Given the description of an element on the screen output the (x, y) to click on. 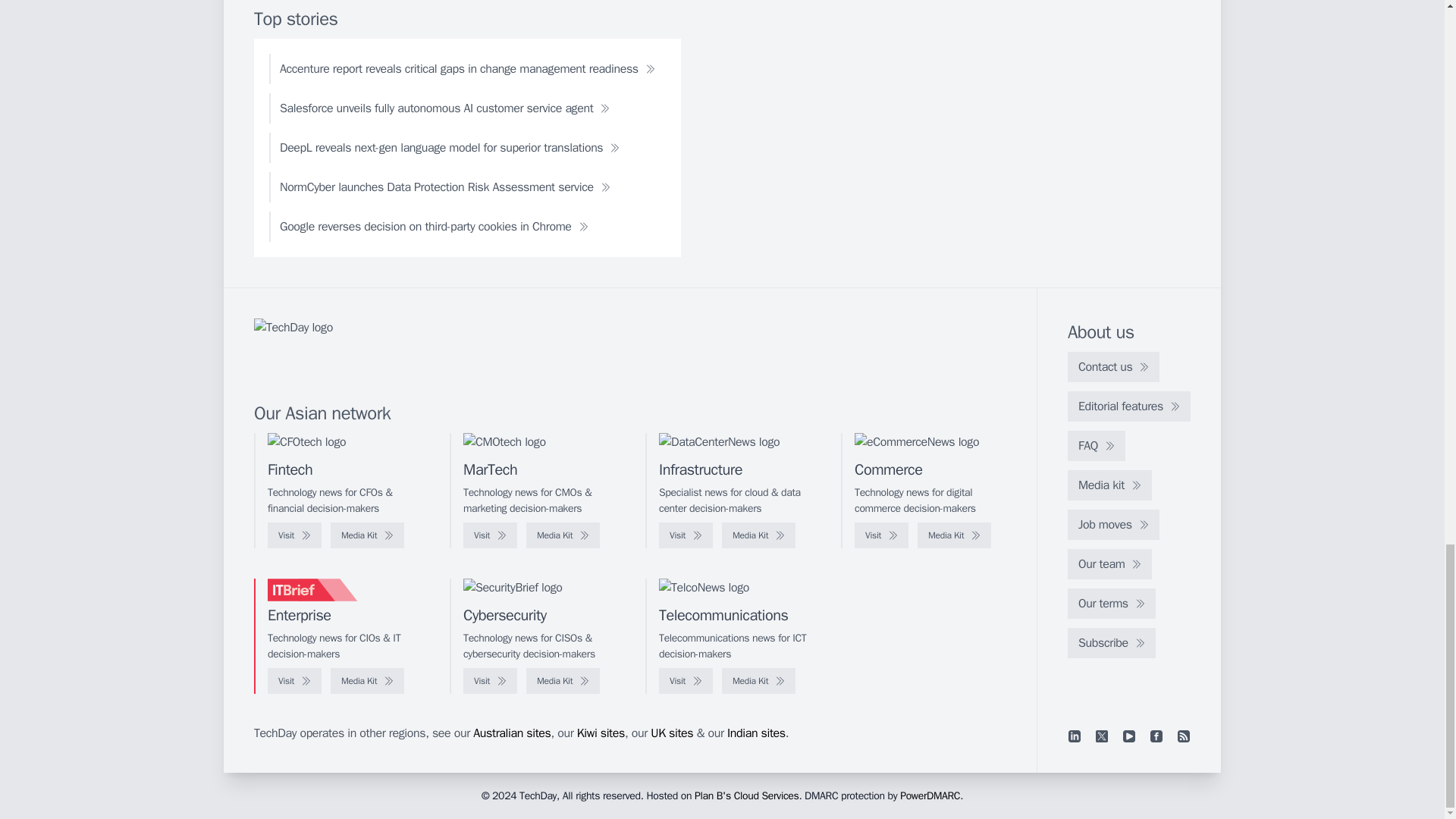
Visit (294, 534)
Media Kit (367, 534)
Visit (881, 534)
Visit (686, 534)
NormCyber launches Data Protection Risk Assessment service (445, 186)
Media Kit (562, 534)
Visit (489, 534)
Media Kit (954, 534)
Google reverses decision on third-party cookies in Chrome (433, 226)
Media Kit (758, 534)
